Given the description of an element on the screen output the (x, y) to click on. 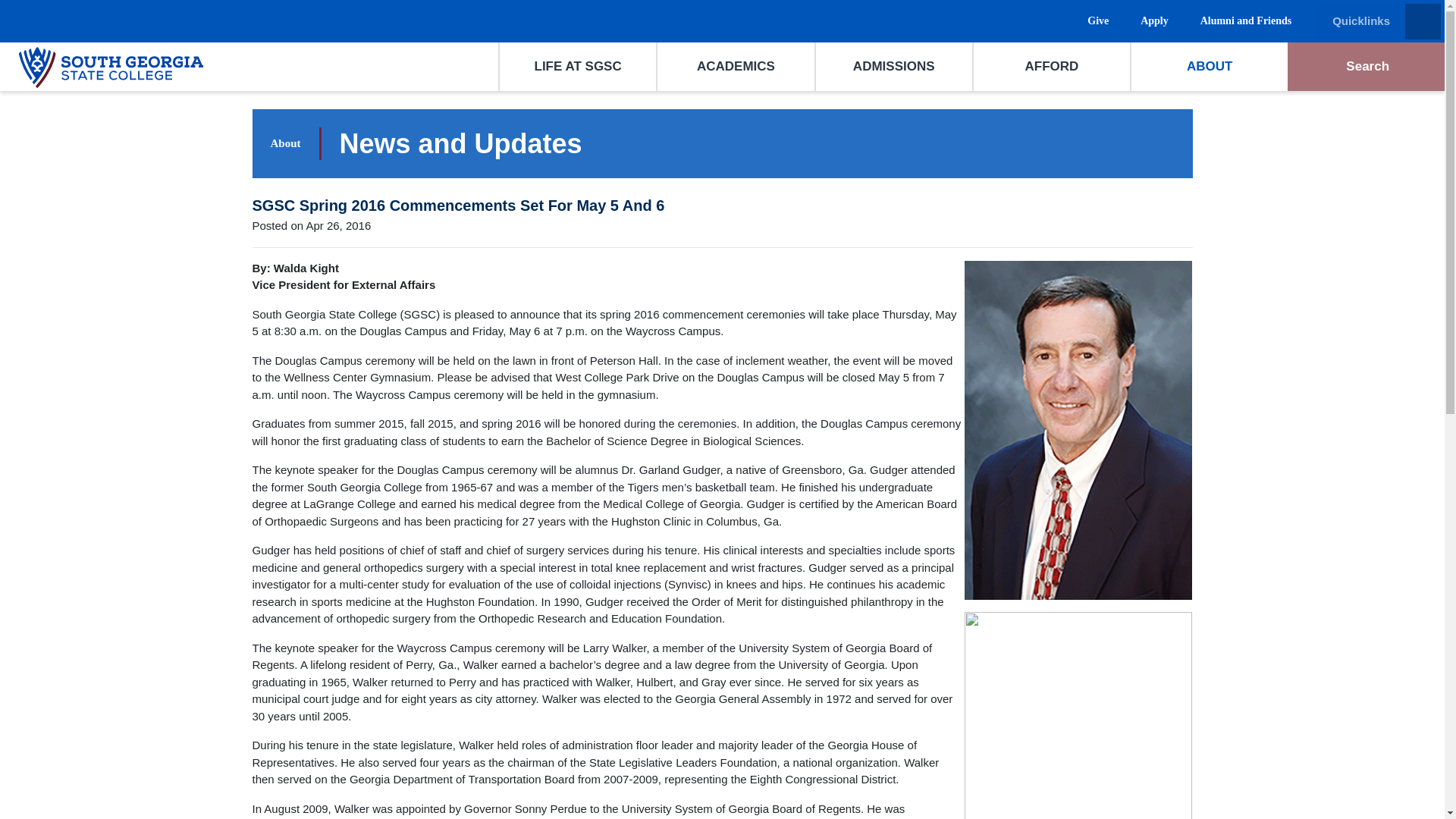
ABOUT (1209, 66)
Alumni and Friends (1242, 27)
AFFORD (1051, 66)
ADMISSIONS (893, 66)
ACADEMICS (735, 66)
Quicklinks (1379, 21)
Apply (1151, 27)
LIFE AT SGSC (577, 66)
